Given the description of an element on the screen output the (x, y) to click on. 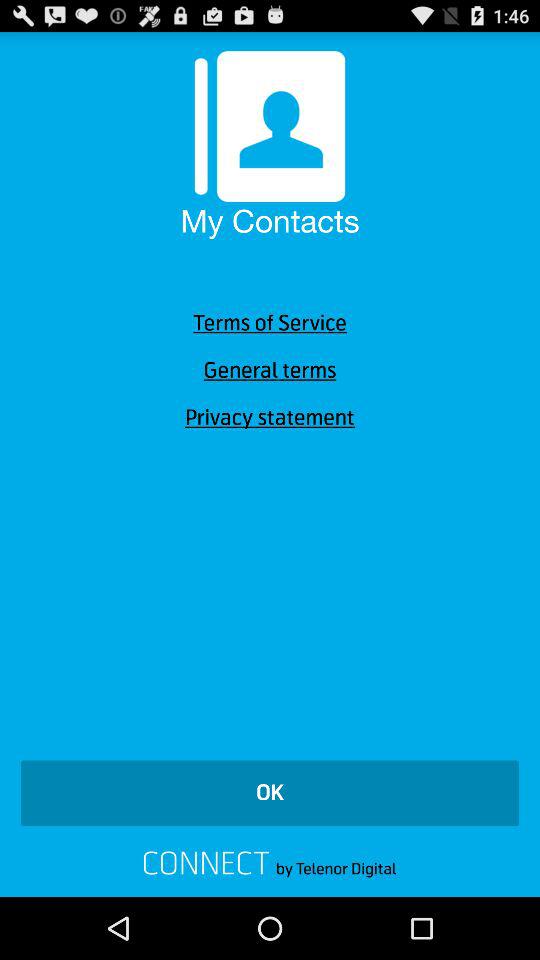
tap icon below terms of service (270, 370)
